Given the description of an element on the screen output the (x, y) to click on. 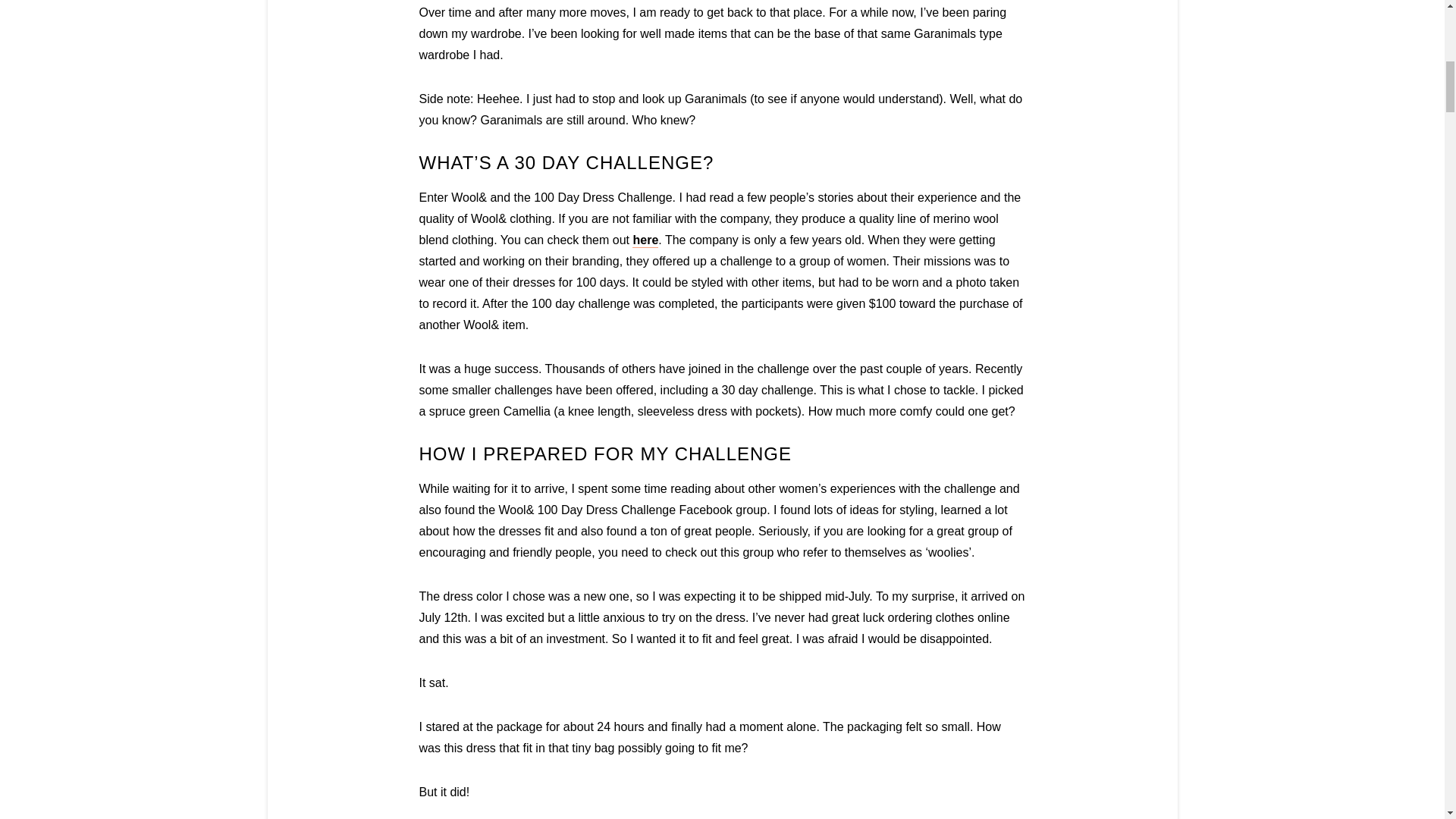
here (644, 240)
